Given the description of an element on the screen output the (x, y) to click on. 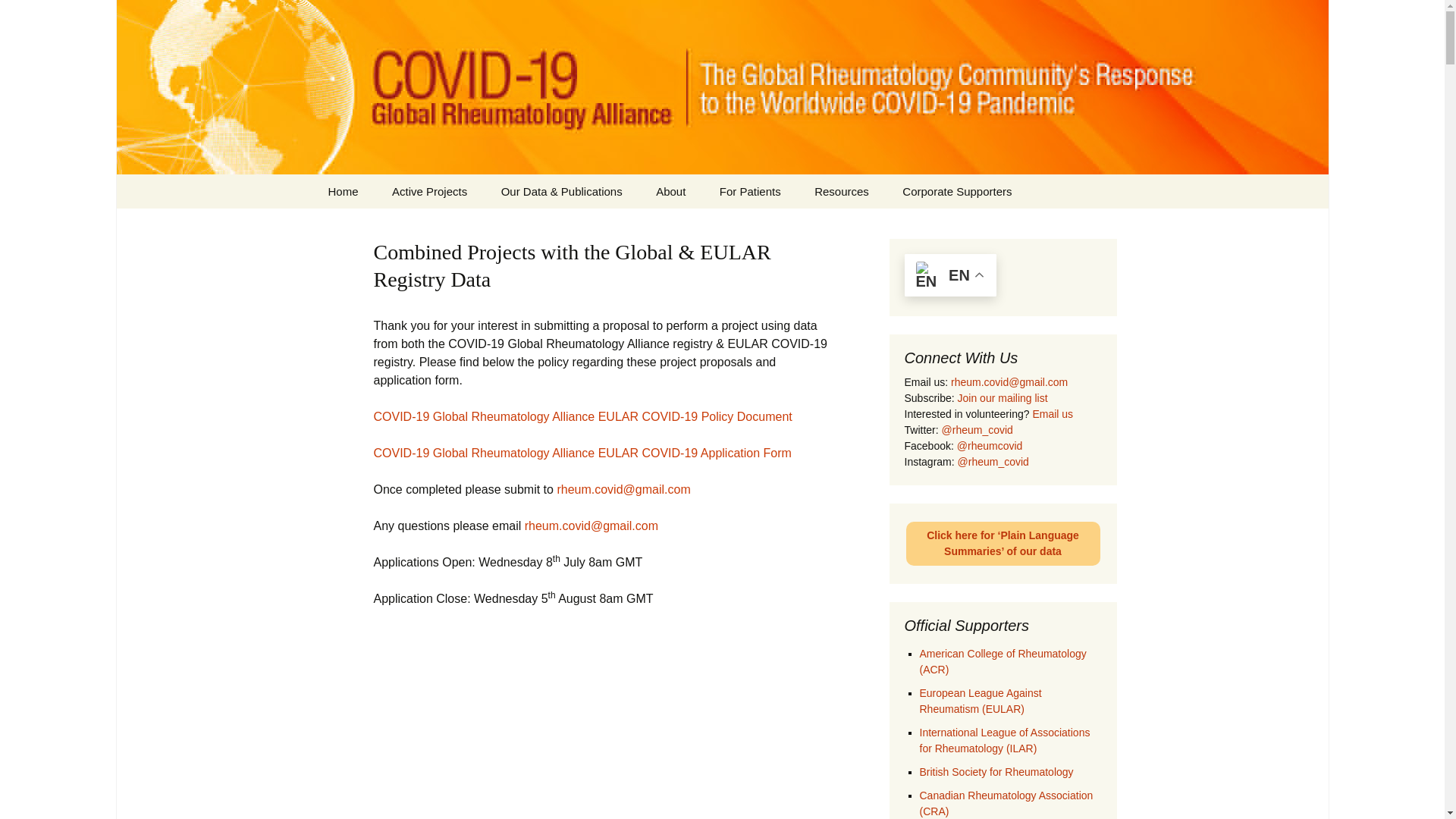
Active Projects (429, 191)
Resources (841, 191)
For Patients (750, 191)
Corporate Supporters (956, 191)
About (670, 191)
Take the 2023 COVID-19 GRA Pediatric Survey! (780, 236)
Communications Toolkit (874, 225)
Publications by The COVID-19 Global Rheumatology Alliance (561, 236)
